Given the description of an element on the screen output the (x, y) to click on. 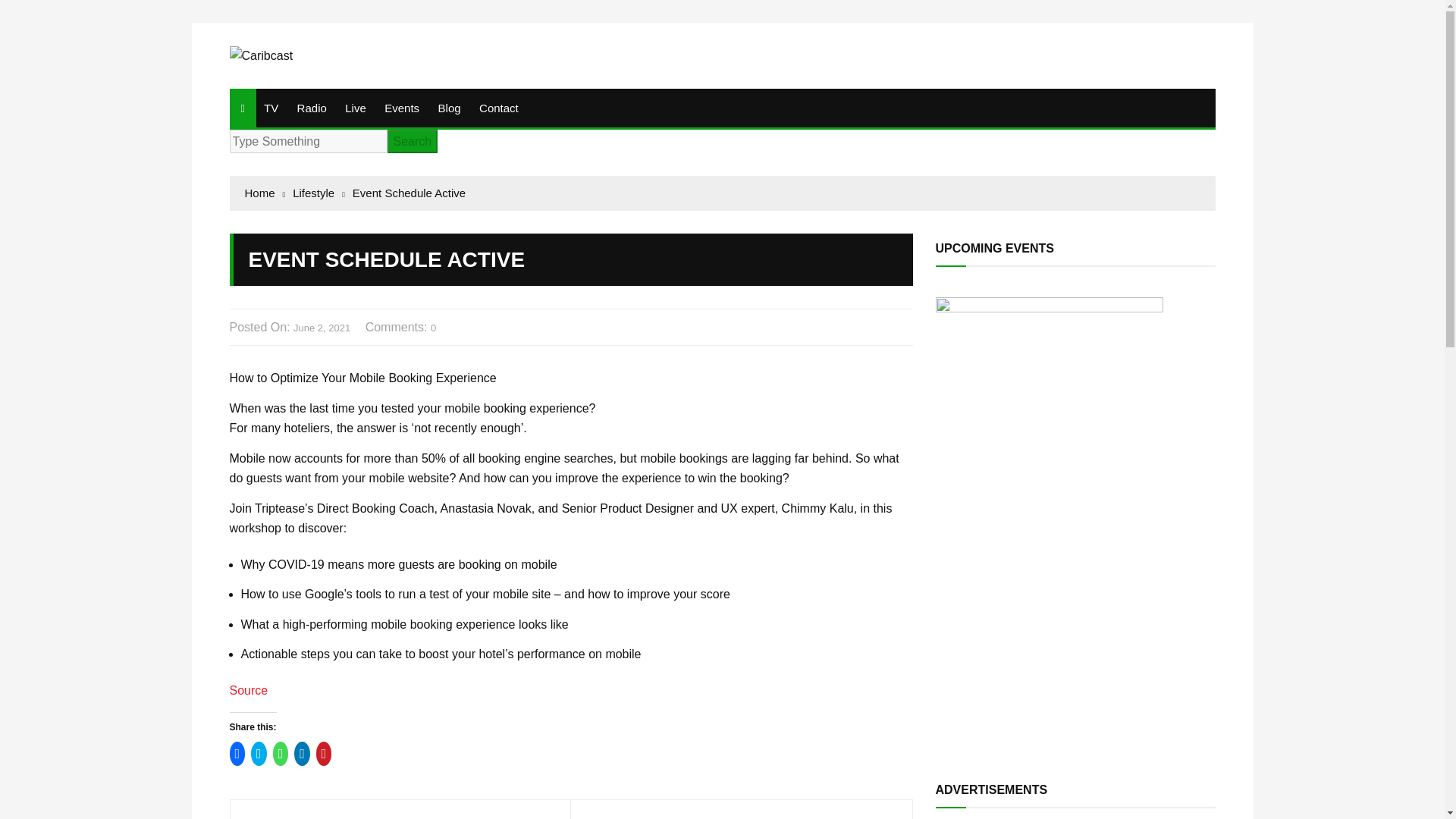
Events (401, 107)
Home (264, 193)
Contact (498, 107)
Radio (311, 107)
Lifestyle (318, 193)
Source (247, 689)
Prev Post (400, 816)
June 2, 2021 (322, 328)
Search (412, 141)
Next Post (741, 816)
